Given the description of an element on the screen output the (x, y) to click on. 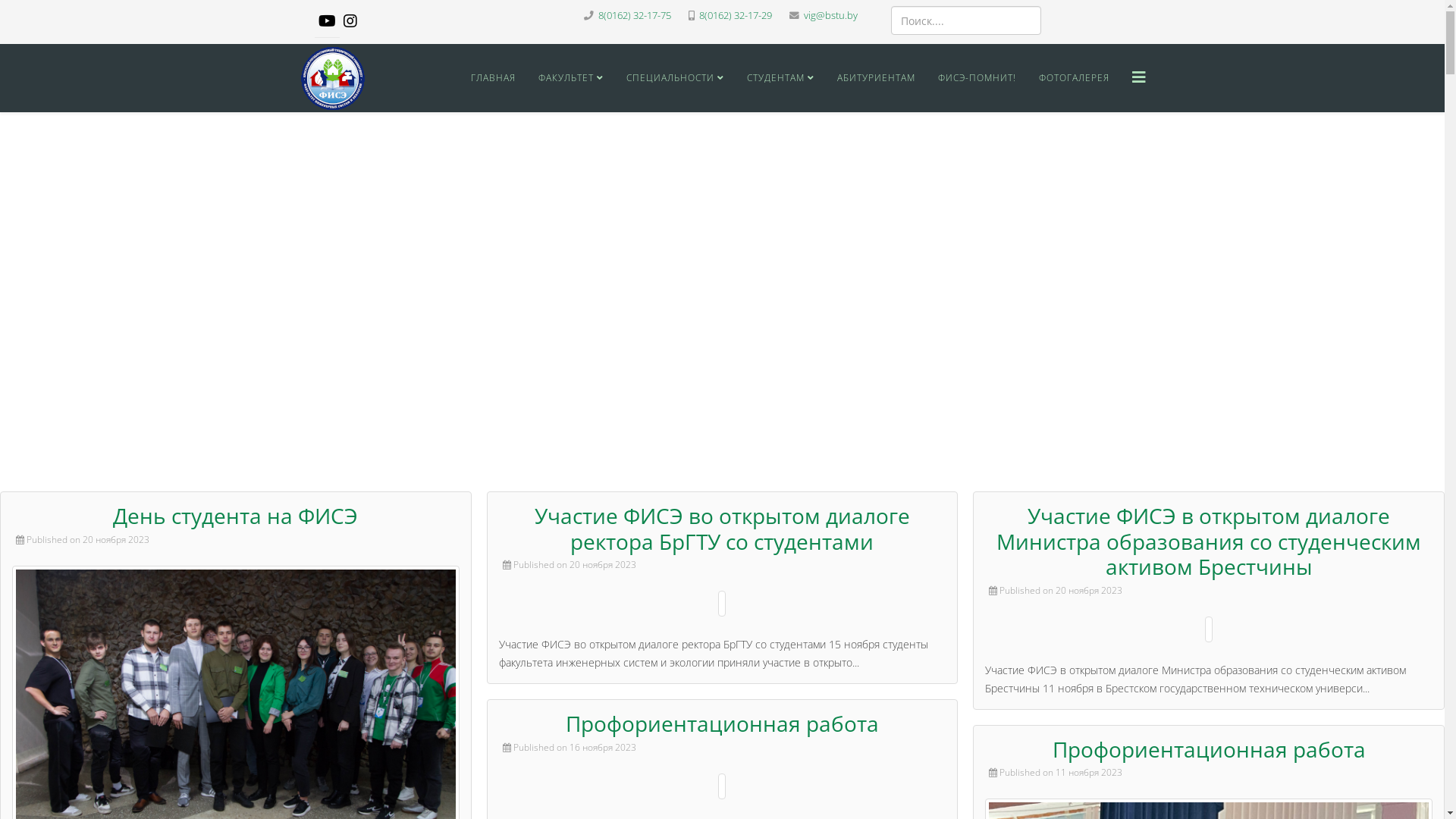
8(0162) 32-17-29 Element type: text (735, 15)
8(0162) 32-17-75 Element type: text (633, 15)
vig@bstu.by Element type: text (830, 15)
Helix3 Megamenu Options Element type: hover (1138, 76)
